Given the description of an element on the screen output the (x, y) to click on. 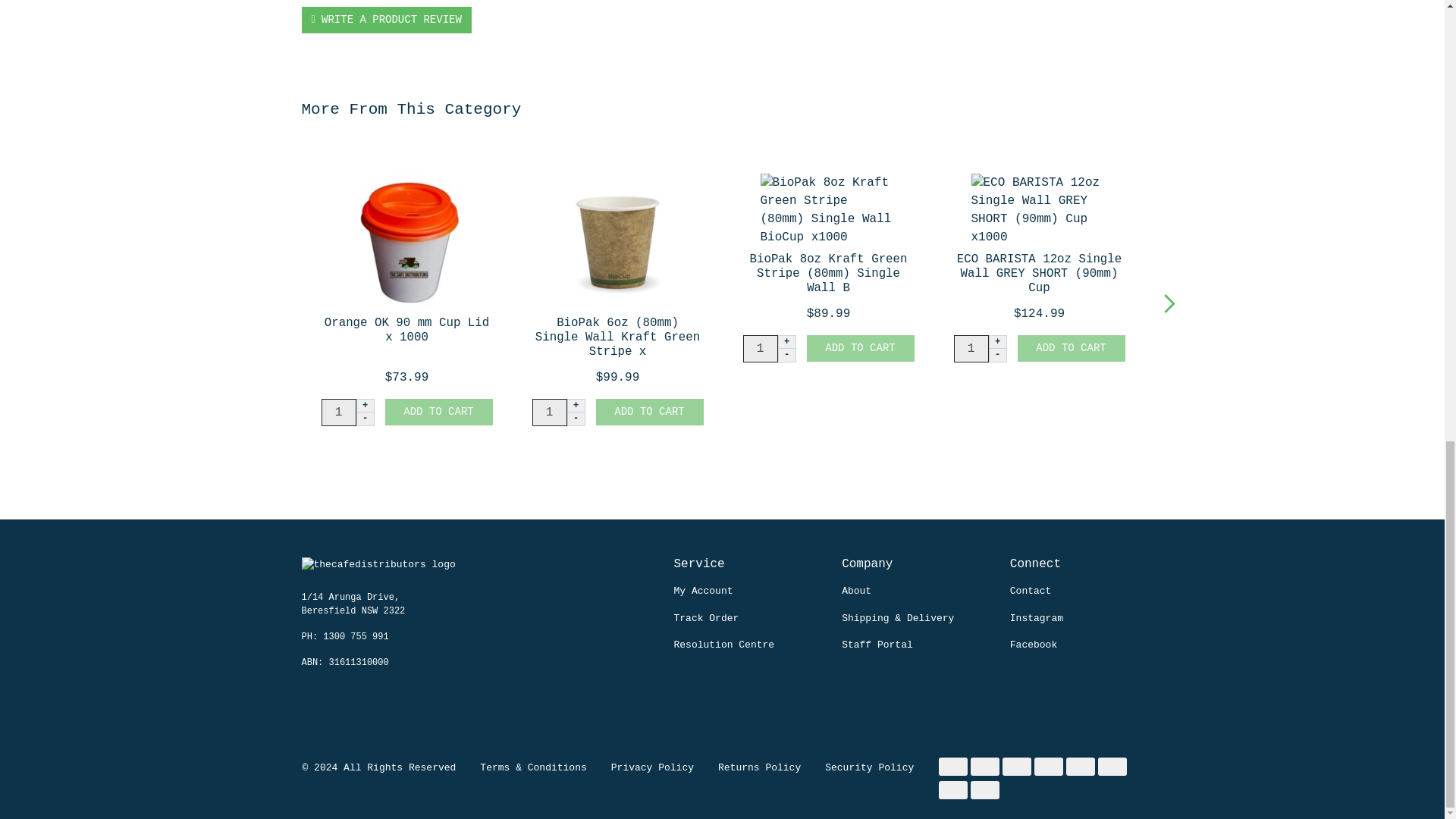
1 (970, 348)
1 (338, 411)
thecafedistributors (378, 573)
1 (759, 348)
Add Orange OK 90 mm Cup Lid x 1000 to Cart (439, 411)
1 (549, 411)
